Given the description of an element on the screen output the (x, y) to click on. 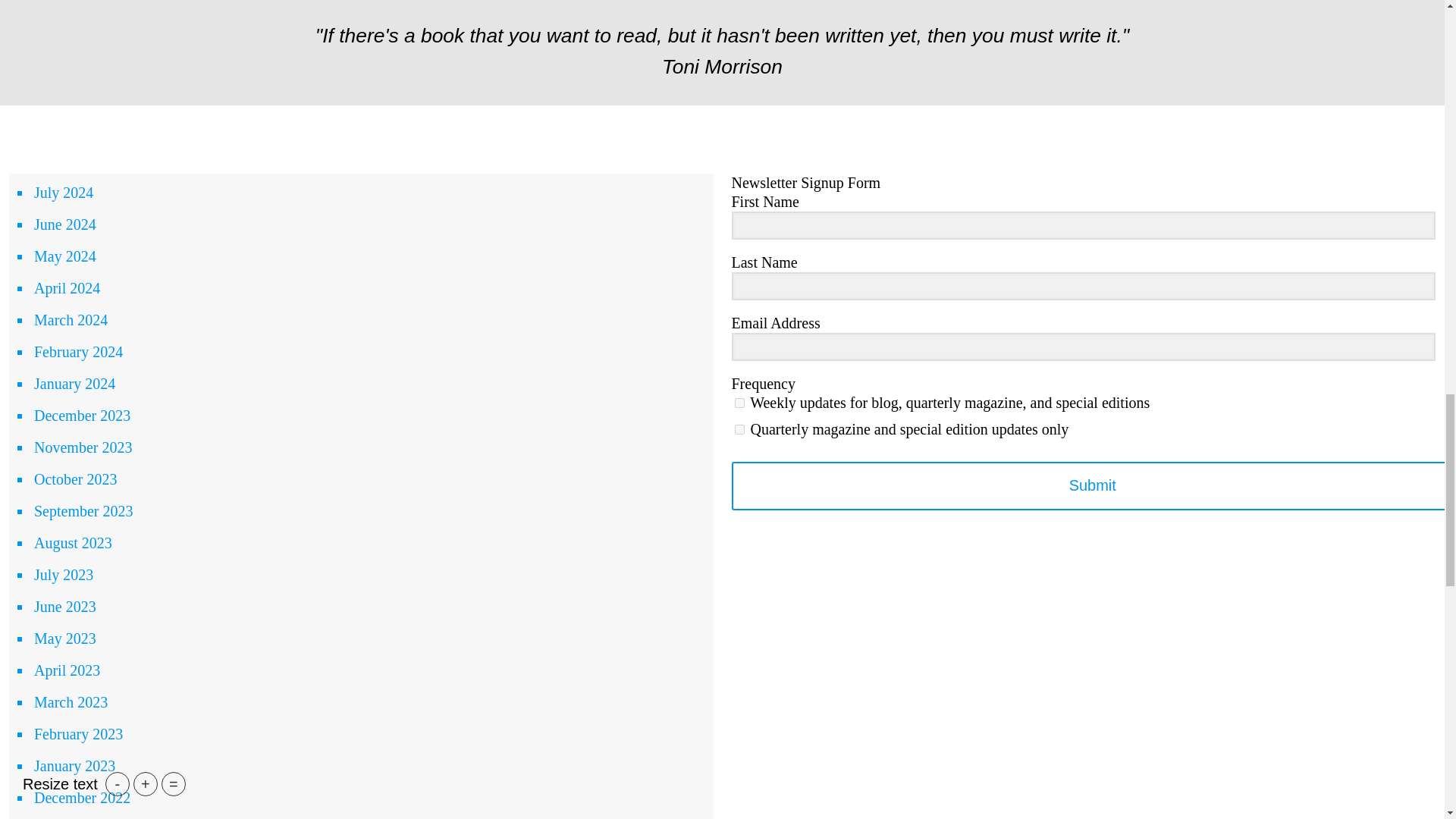
fb85e3644c (738, 429)
80af137680 (738, 402)
